Given the description of an element on the screen output the (x, y) to click on. 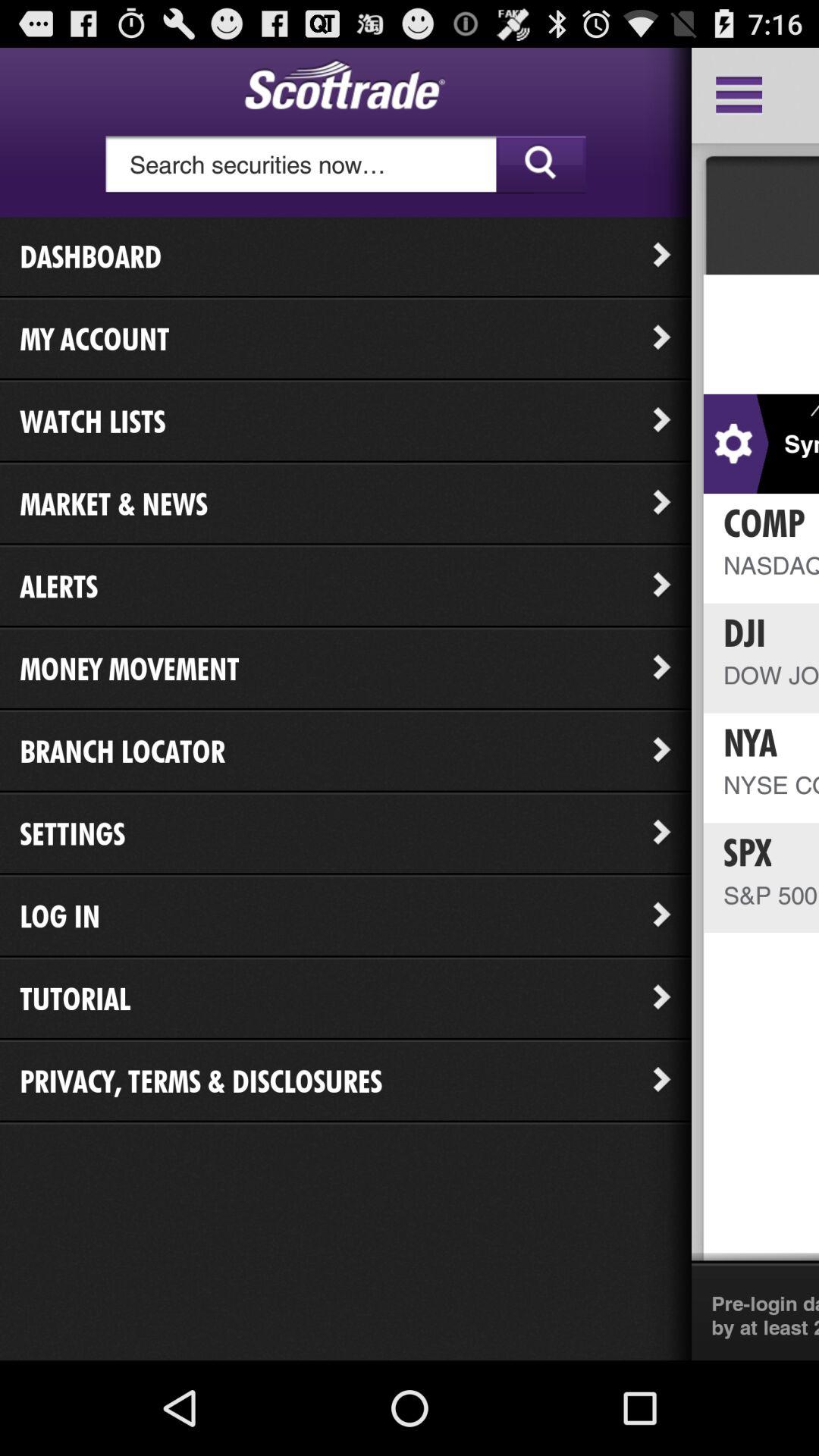
search securities (345, 164)
